Given the description of an element on the screen output the (x, y) to click on. 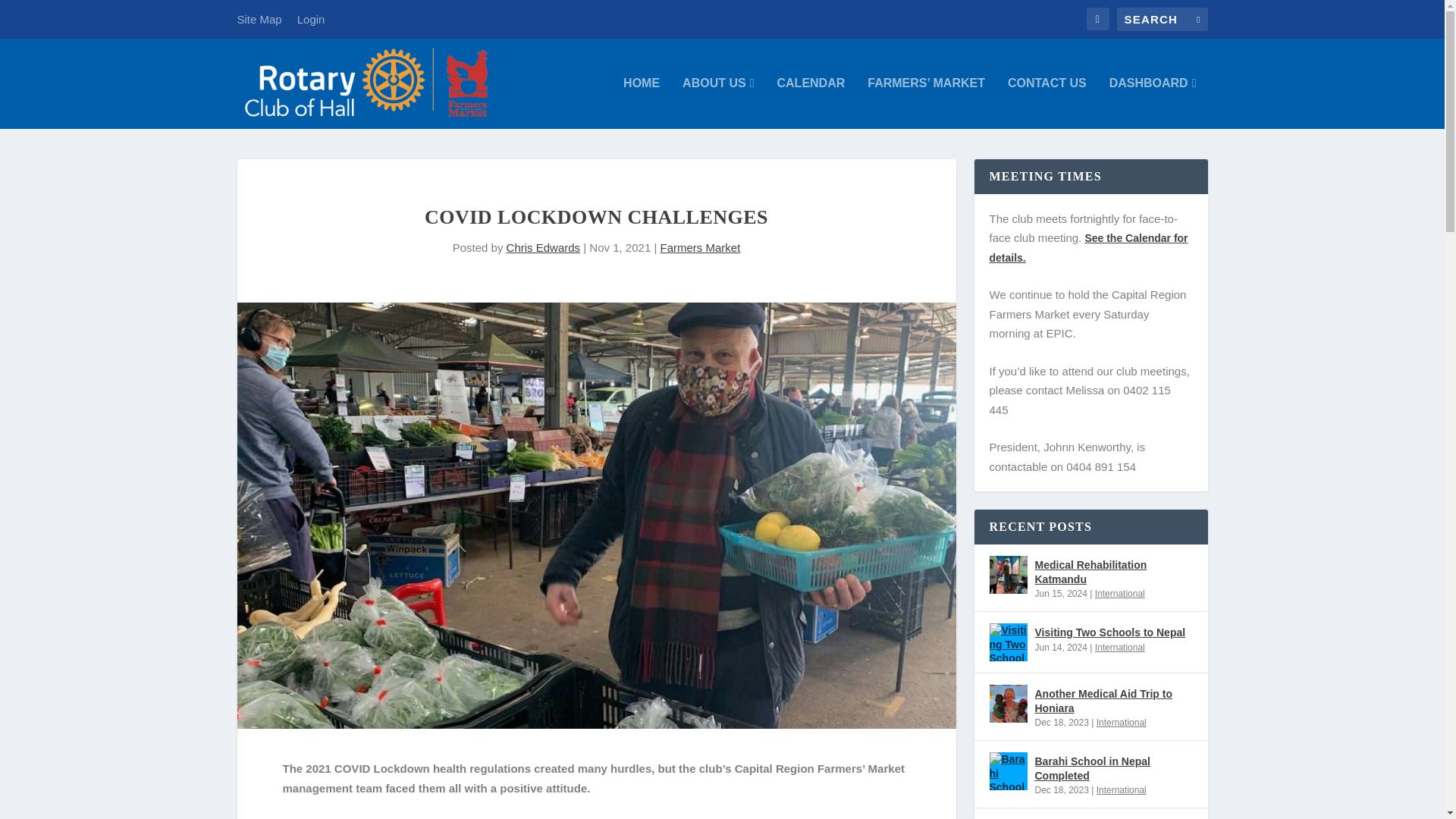
Search for: (1161, 19)
DASHBOARD (1152, 102)
CALENDAR (810, 102)
Chris Edwards (543, 246)
CONTACT US (1046, 102)
Posts by Chris Edwards (543, 246)
Site Map (258, 19)
ABOUT US (718, 102)
Farmers Market (699, 246)
